Given the description of an element on the screen output the (x, y) to click on. 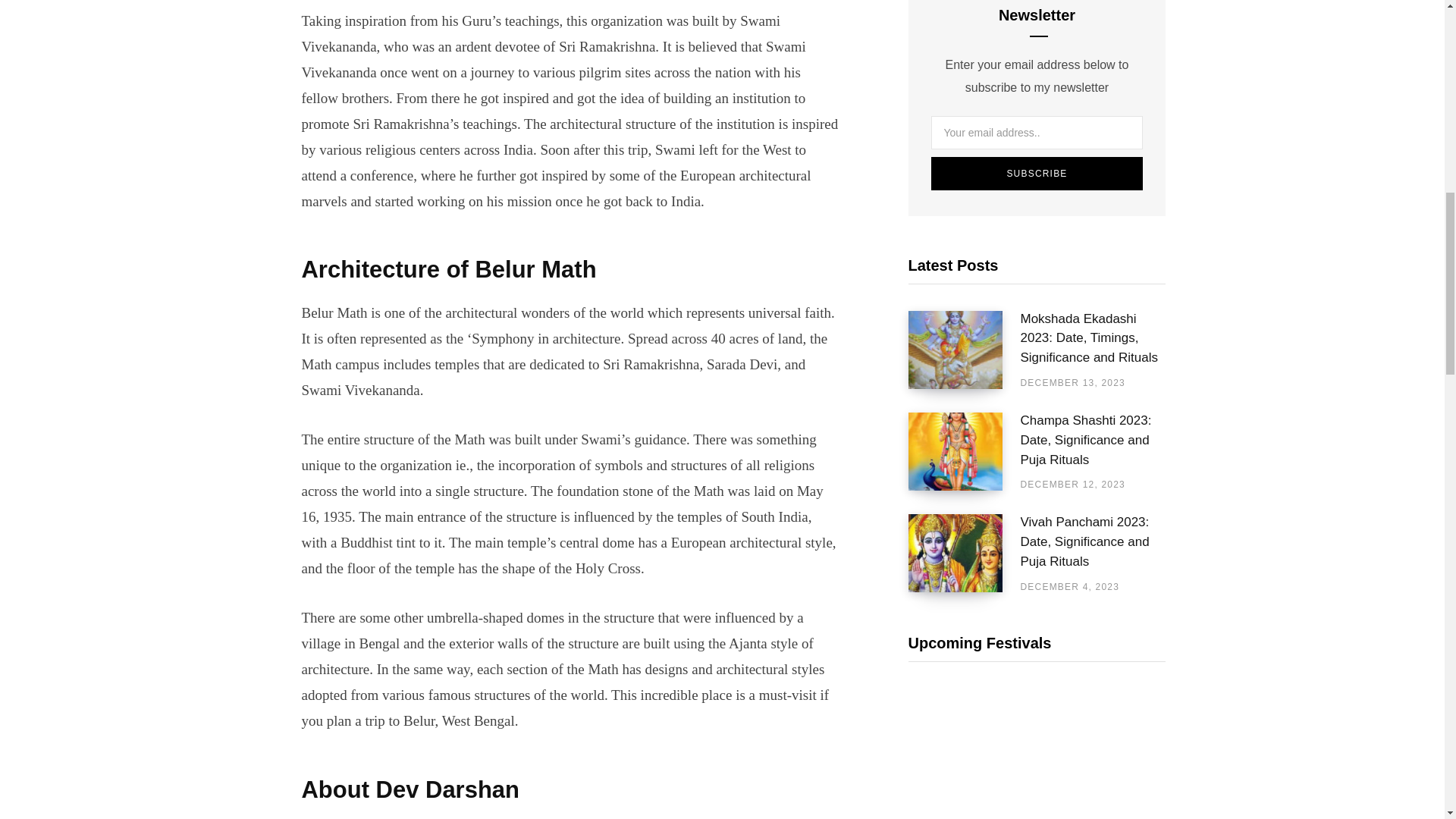
Subscribe (1036, 173)
